Given the description of an element on the screen output the (x, y) to click on. 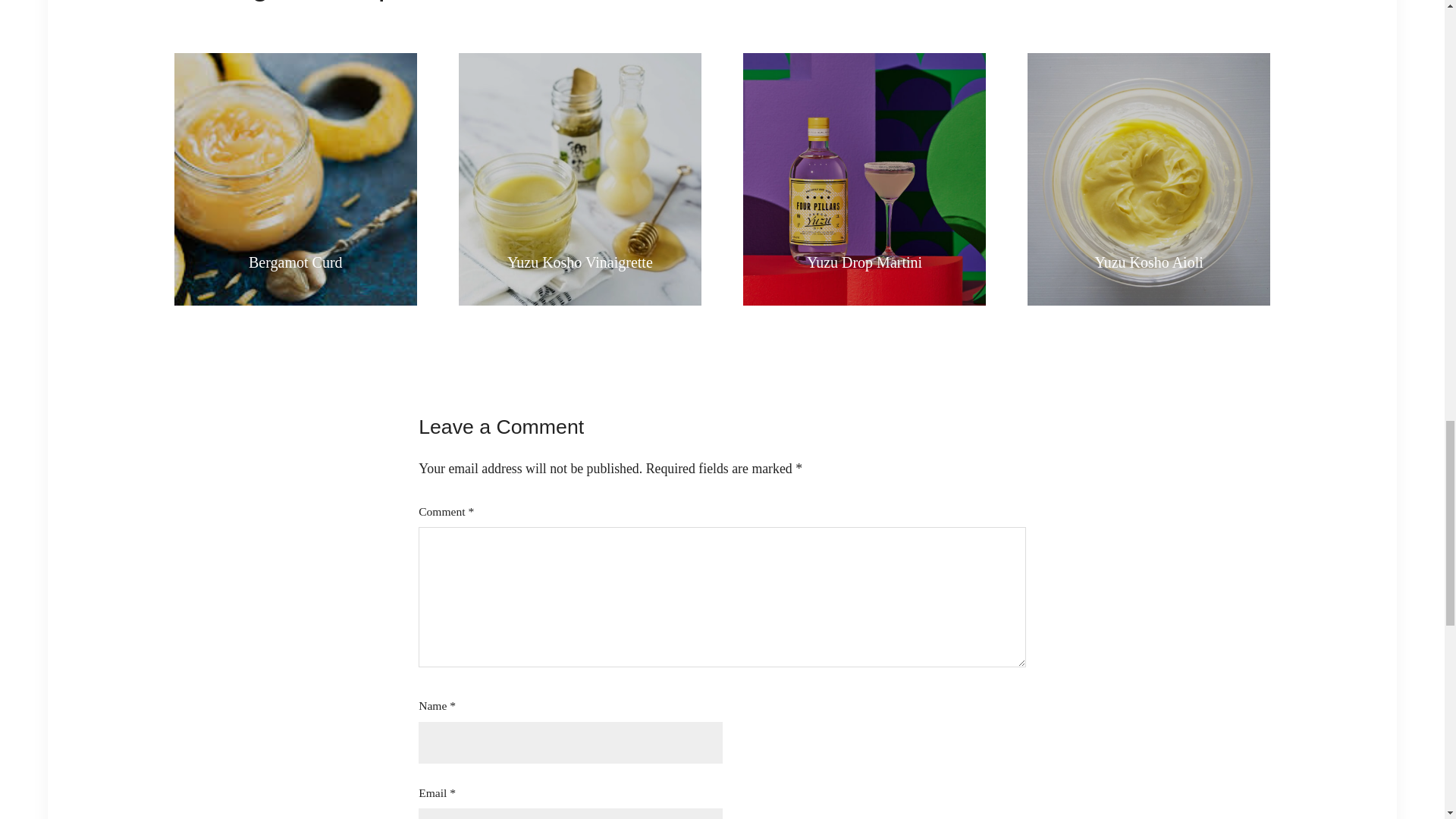
Yuzu Kosho Vinaigrette (579, 261)
Yuzu Kosho Aioli (1148, 261)
Bergamot Curd (295, 261)
Yuzu Drop Martini (864, 261)
